Given the description of an element on the screen output the (x, y) to click on. 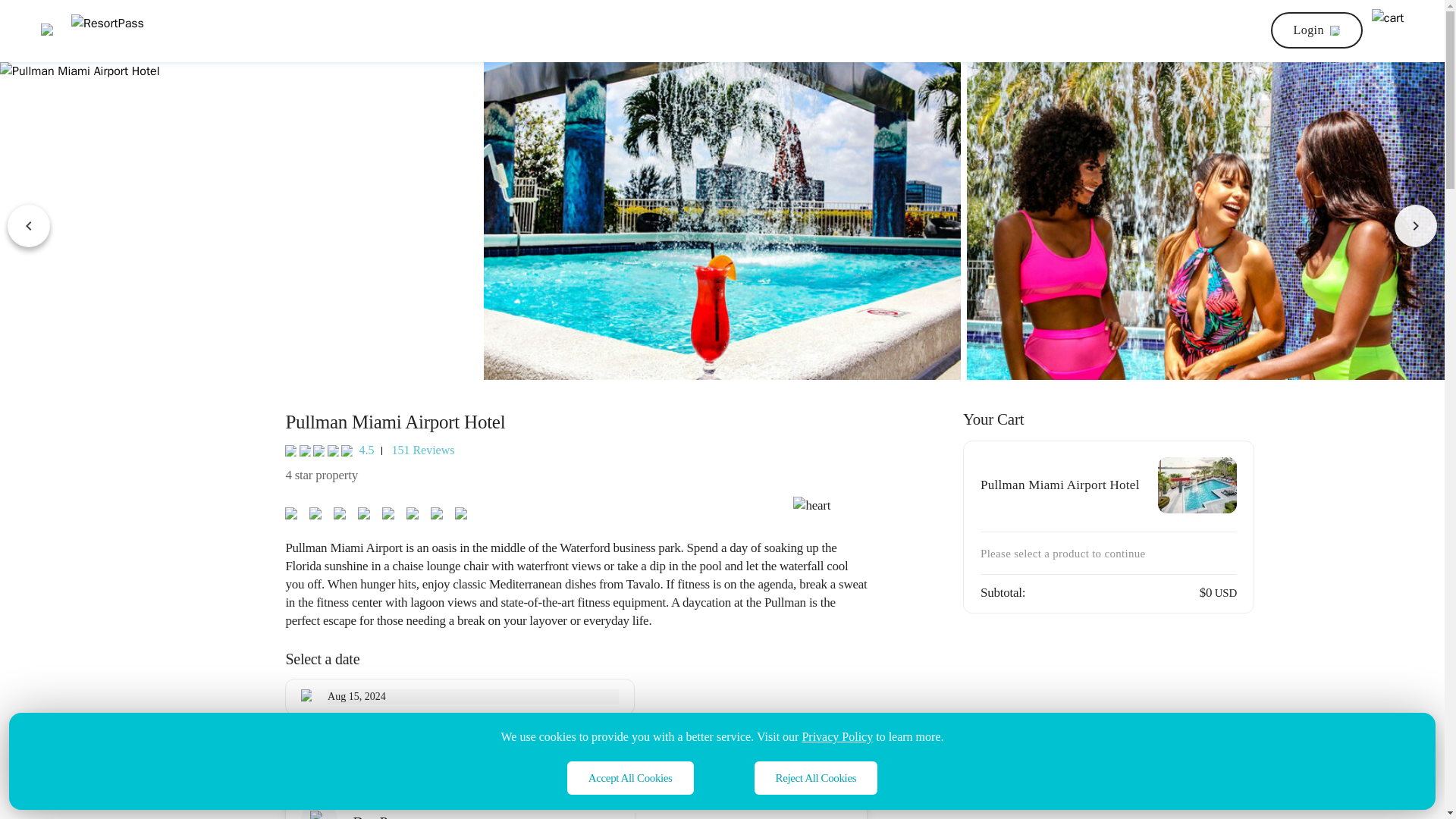
Aug 15, 2024 (472, 696)
Privacy Policy (837, 736)
Reject All Cookies (815, 777)
Open in a new window (837, 736)
Login (1316, 30)
Accept All Cookies (630, 777)
